Given the description of an element on the screen output the (x, y) to click on. 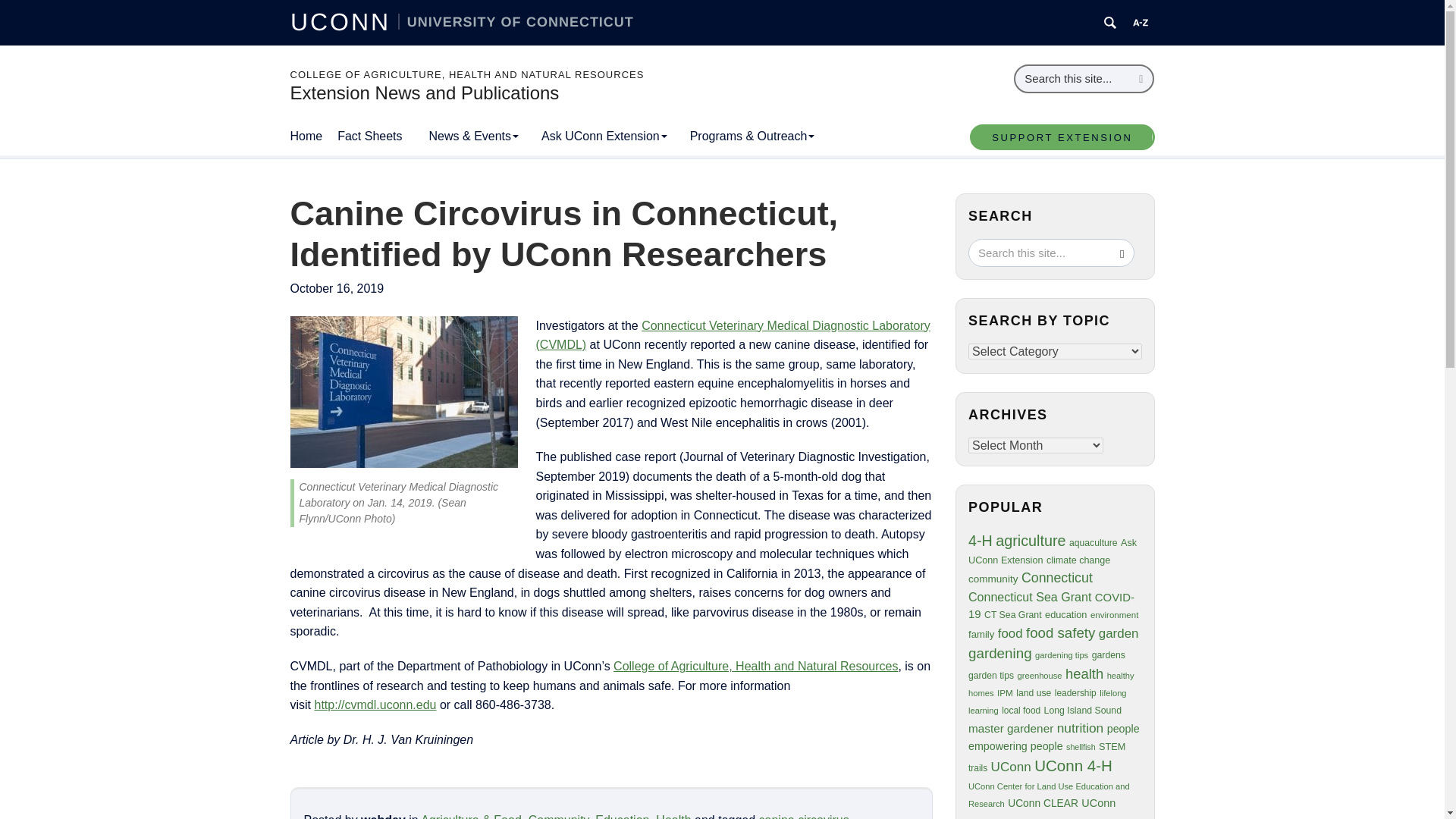
SUPPORT EXTENSION (1061, 136)
Search this site...  (1071, 78)
Search (1141, 78)
Search (1141, 78)
Extension News and Publications (424, 92)
Search this site...  (1040, 252)
Search UConn (1109, 22)
UConn A to Z Index (1140, 22)
Community (558, 816)
COLLEGE OF AGRICULTURE, HEALTH AND NATURAL RESOURCES (466, 74)
